Given the description of an element on the screen output the (x, y) to click on. 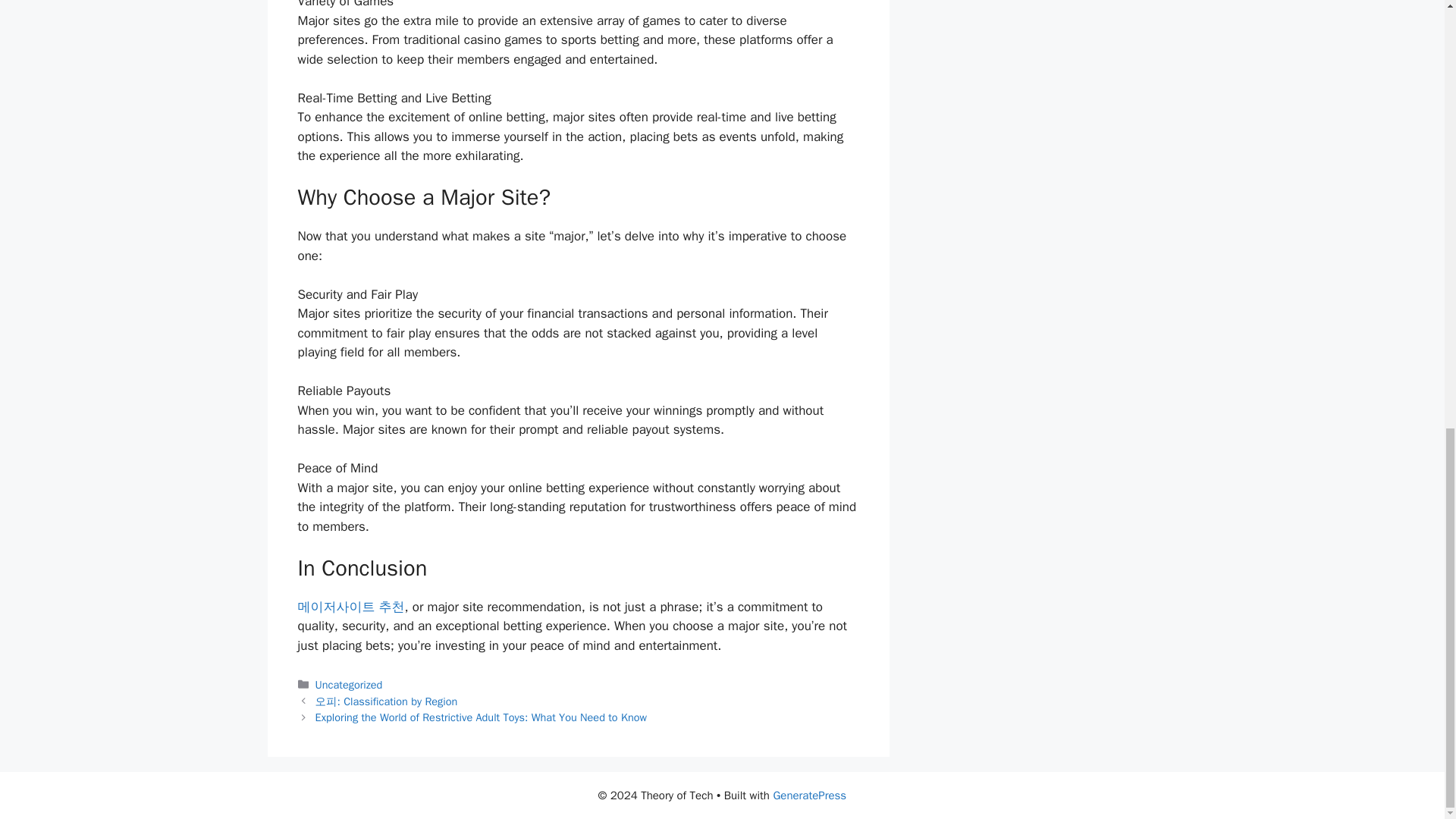
Uncategorized (348, 684)
GeneratePress (809, 795)
